Given the description of an element on the screen output the (x, y) to click on. 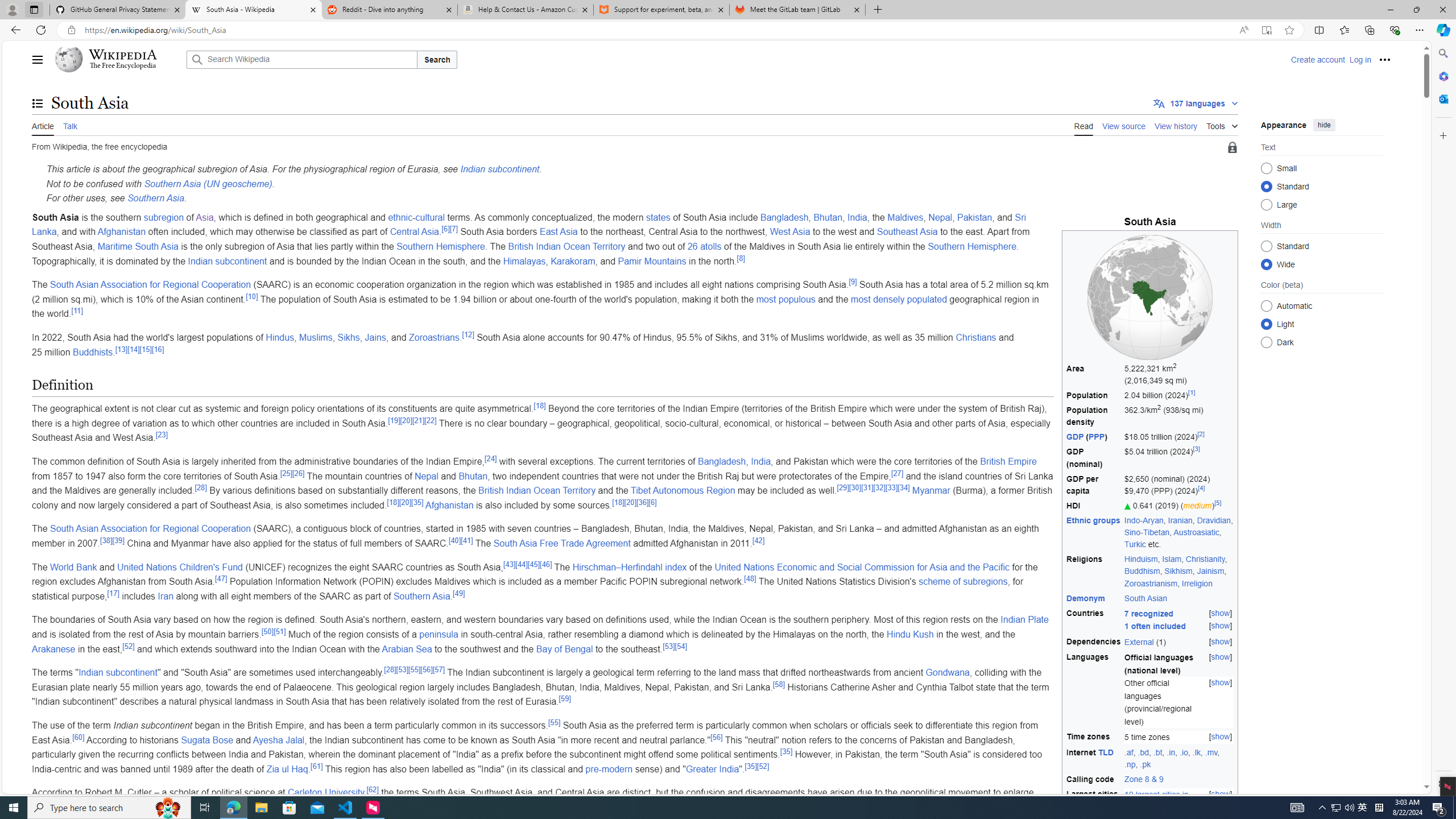
South Asia - Wikipedia (253, 9)
Hindus (279, 337)
[36] (642, 501)
Zone 8 & 9 (1179, 779)
GitHub General Privacy Statement - GitHub Docs (117, 9)
[7] (453, 228)
Personal tools (1384, 59)
Asia (204, 217)
peninsula (438, 633)
Meet the GitLab team | GitLab (797, 9)
